Given the description of an element on the screen output the (x, y) to click on. 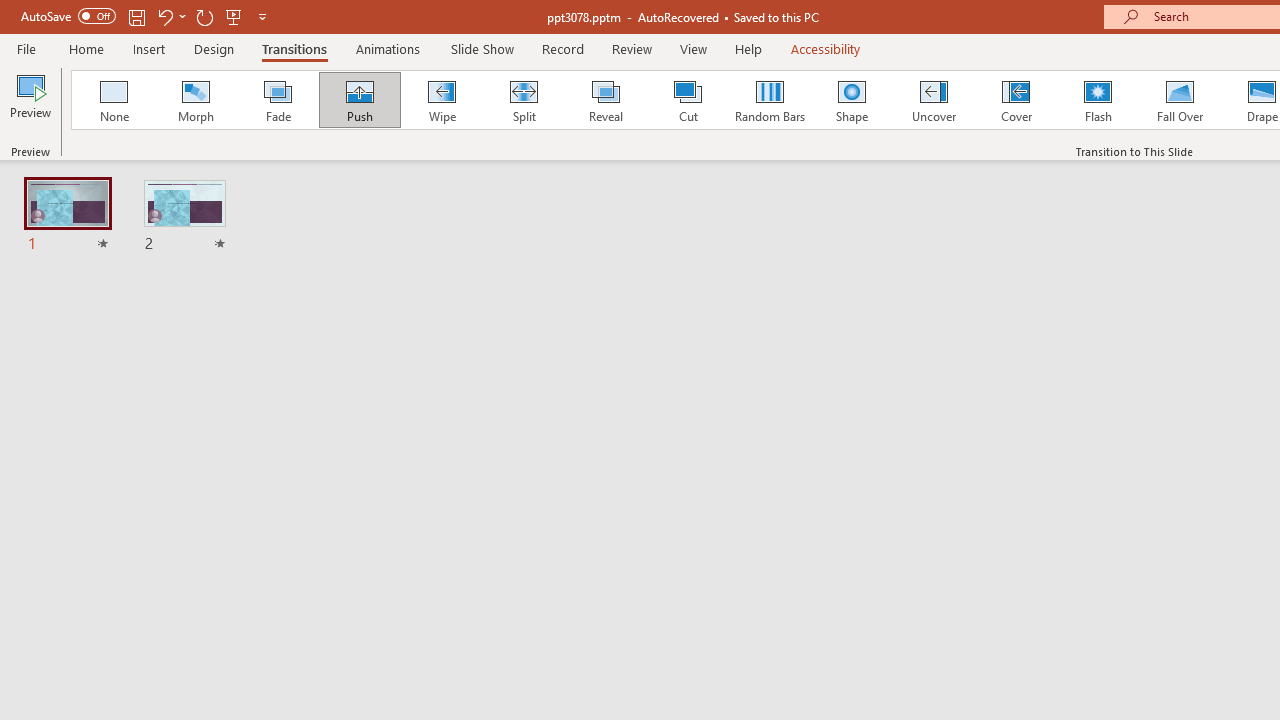
Reveal (605, 100)
